Given the description of an element on the screen output the (x, y) to click on. 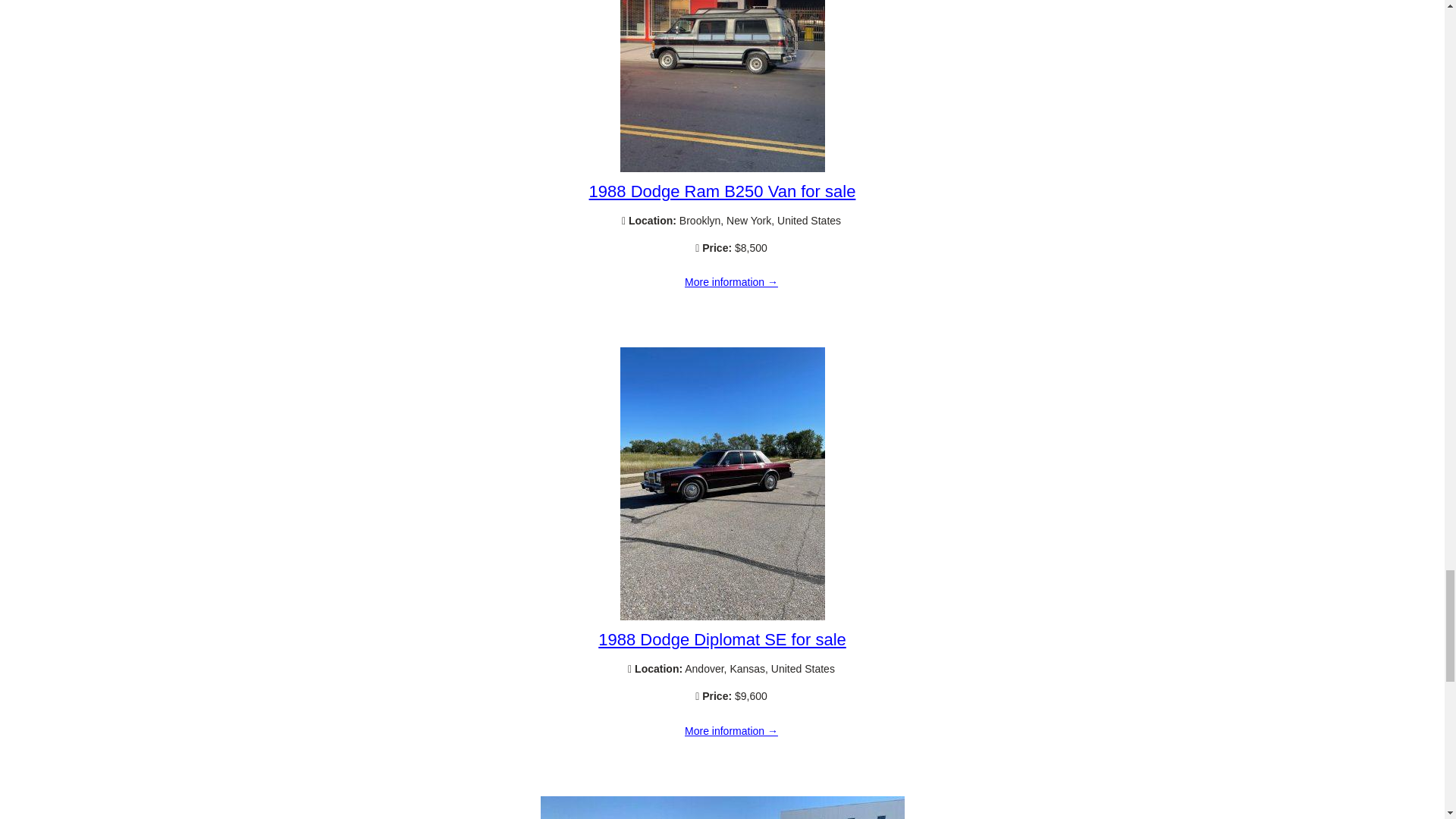
1988 Dodge Diplomat SE for sale (731, 731)
1988 Dodge Diplomat SE for sale (722, 616)
1988 Dodge Diplomat SE for sale (721, 639)
1988 Dodge Ram B250 Van for sale (731, 282)
1988 Dodge Ram B250 Van for sale (722, 190)
1988 Dodge Ram B250 Van for sale (722, 168)
